Given the description of an element on the screen output the (x, y) to click on. 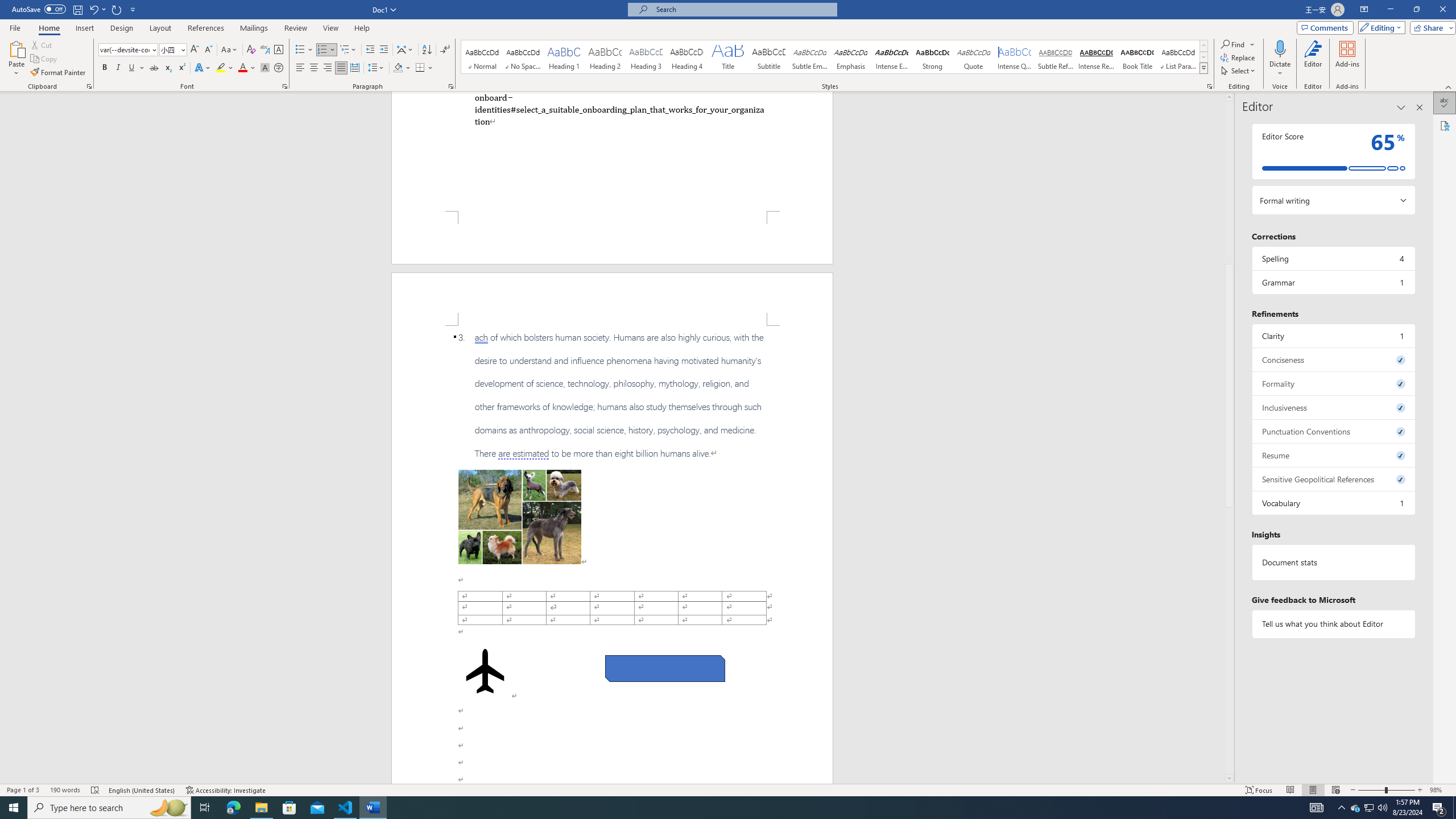
Grammar, 1 issue. Press space or enter to review items. (1333, 282)
Page Number Page 1 of 3 (22, 790)
Heading 2 (605, 56)
Subscript (167, 67)
Multilevel List (347, 49)
Character Shading (264, 67)
Borders (419, 67)
Select (1238, 69)
References (205, 28)
Title (727, 56)
Row up (1203, 45)
Collapse the Ribbon (1448, 86)
Language English (United States) (141, 790)
Editor (1312, 58)
Subtle Emphasis (809, 56)
